Given the description of an element on the screen output the (x, y) to click on. 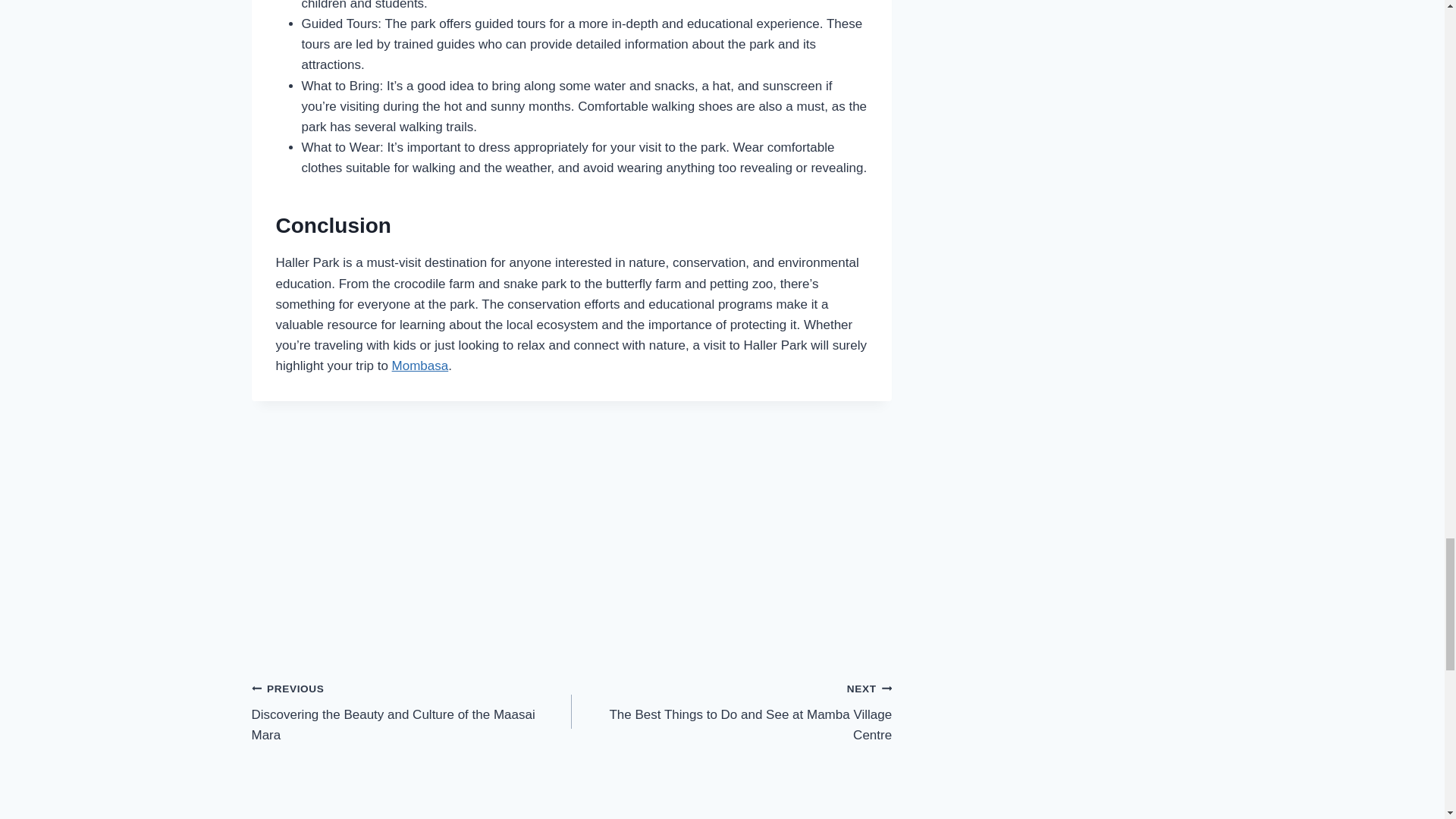
Mombasa (419, 365)
